Given the description of an element on the screen output the (x, y) to click on. 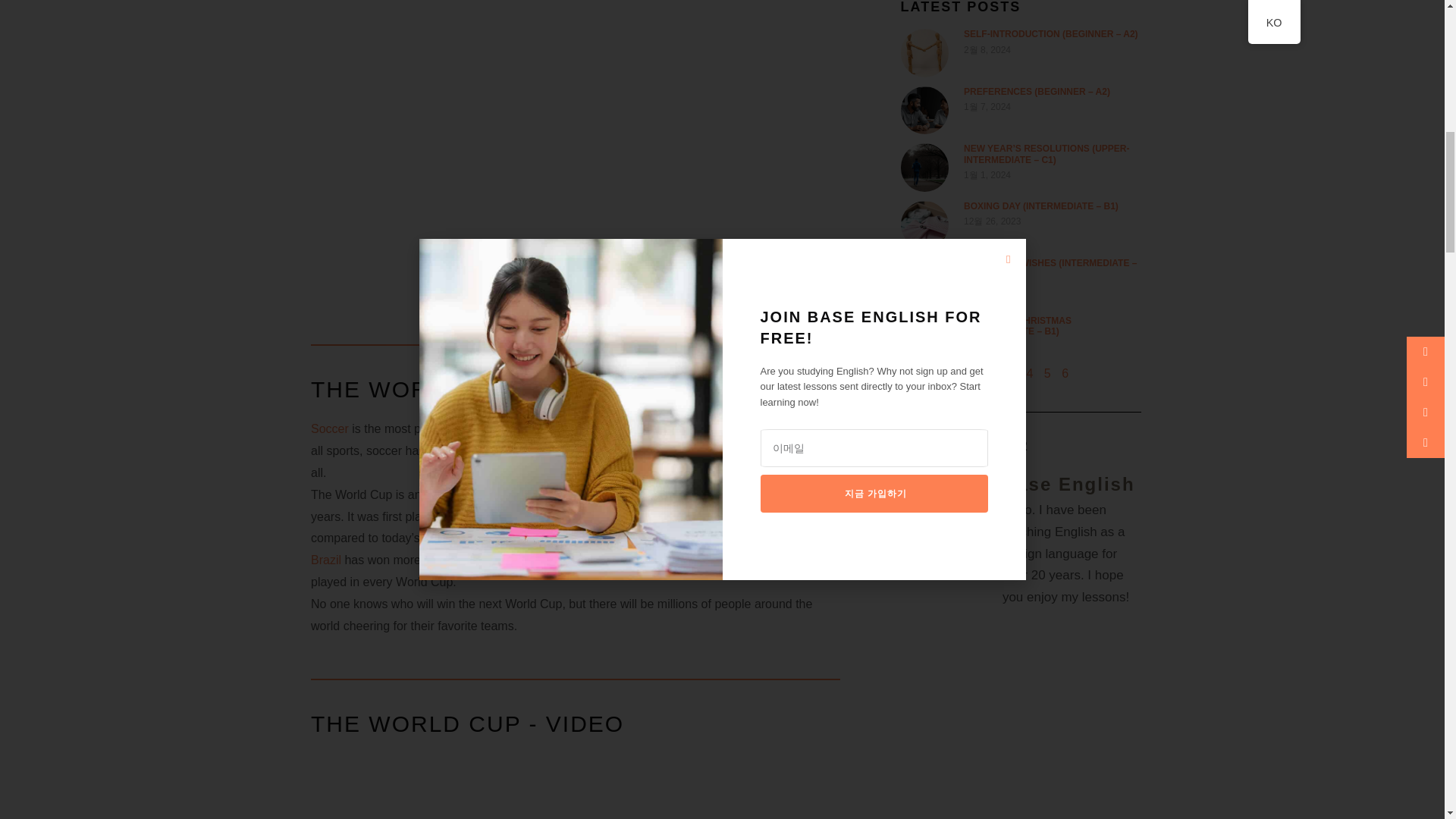
Brazil (325, 559)
Soccer (330, 428)
